Given the description of an element on the screen output the (x, y) to click on. 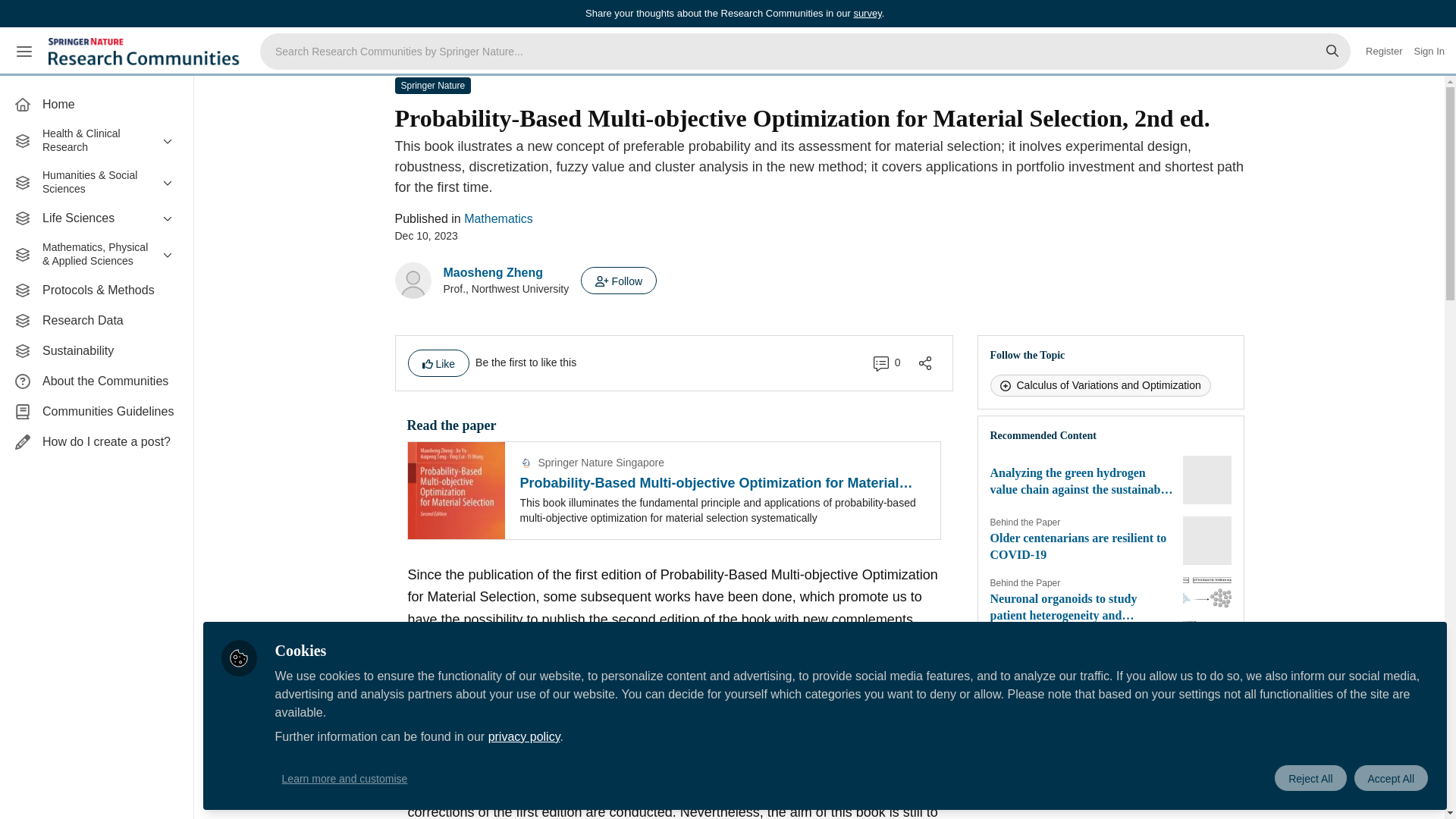
Search (1332, 51)
Life Sciences (96, 217)
Research Communities by Springer Nature (146, 51)
Home (96, 103)
Life Sciences (96, 217)
Home (96, 103)
Menu (24, 51)
survey (866, 12)
